Given the description of an element on the screen output the (x, y) to click on. 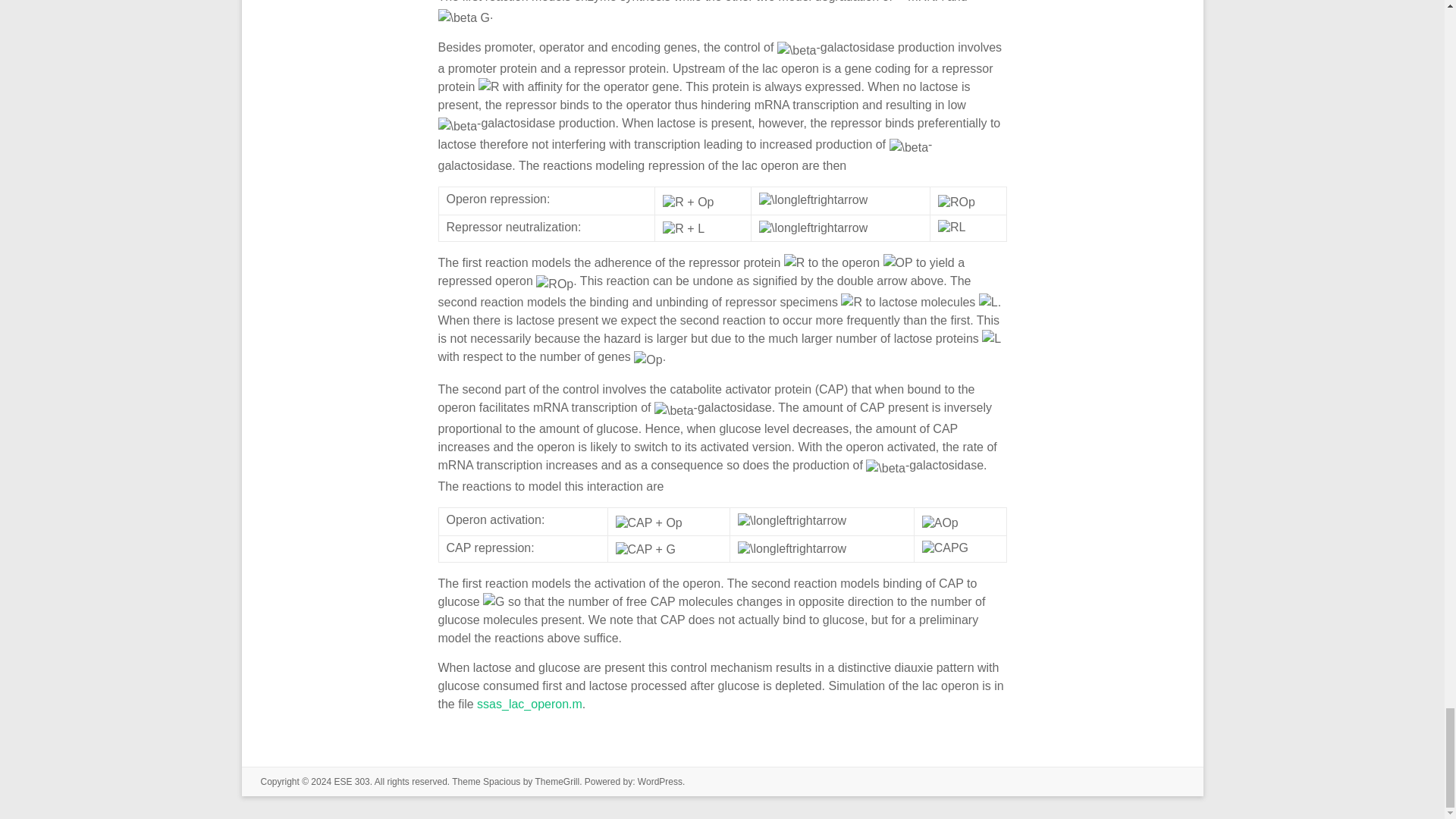
ESE 303 (351, 781)
WordPress (659, 781)
Spacious (501, 781)
